Given the description of an element on the screen output the (x, y) to click on. 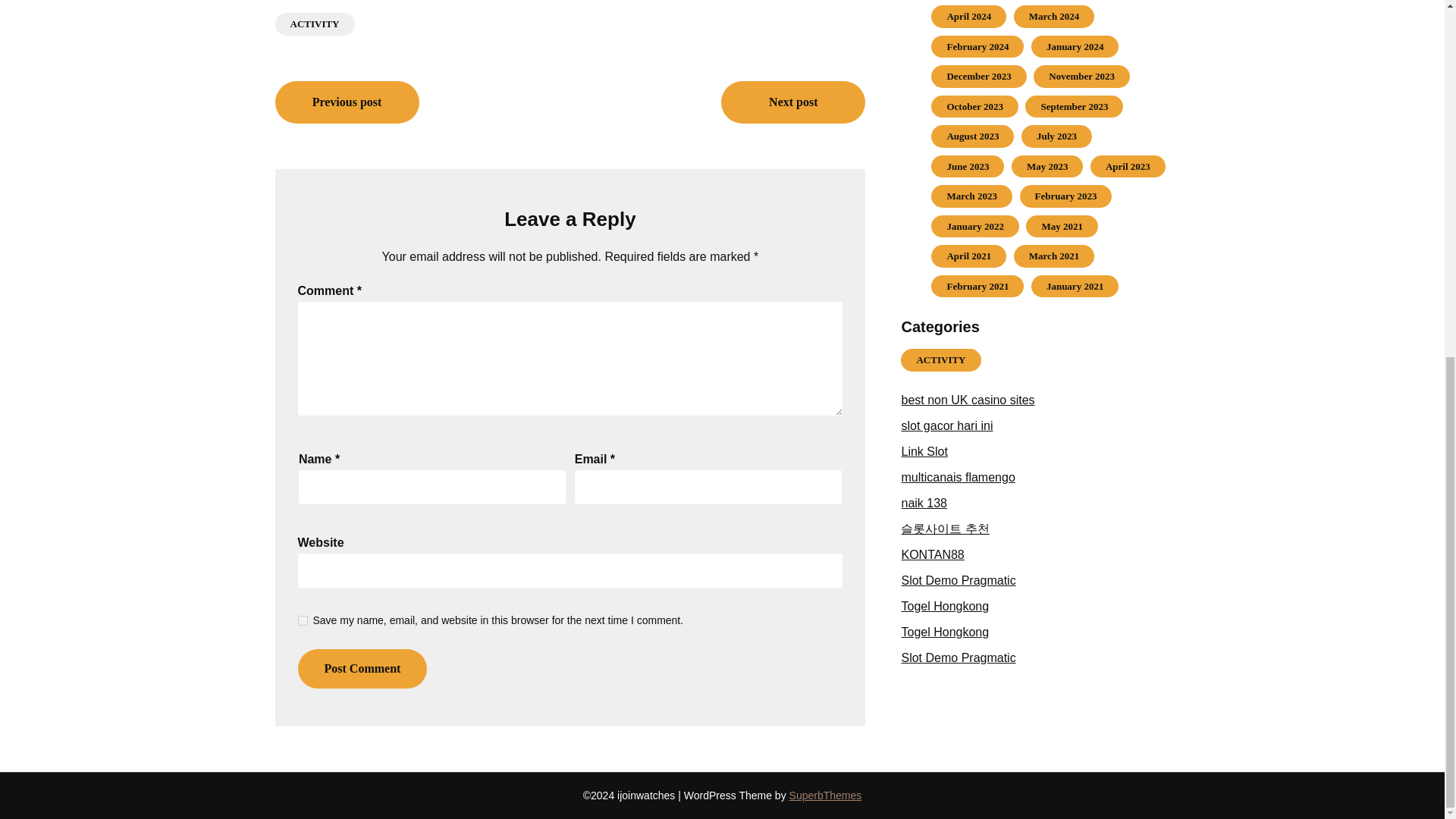
March 2024 (1054, 16)
Next post (792, 101)
June 2023 (967, 165)
April 2024 (968, 16)
May 2023 (1047, 165)
ACTIVITY (314, 24)
Post Comment (361, 668)
Post Comment (361, 668)
October 2023 (974, 106)
Previous post (347, 101)
February 2024 (977, 46)
April 2023 (1127, 165)
January 2024 (1074, 46)
July 2023 (1056, 135)
yes (302, 620)
